Given the description of an element on the screen output the (x, y) to click on. 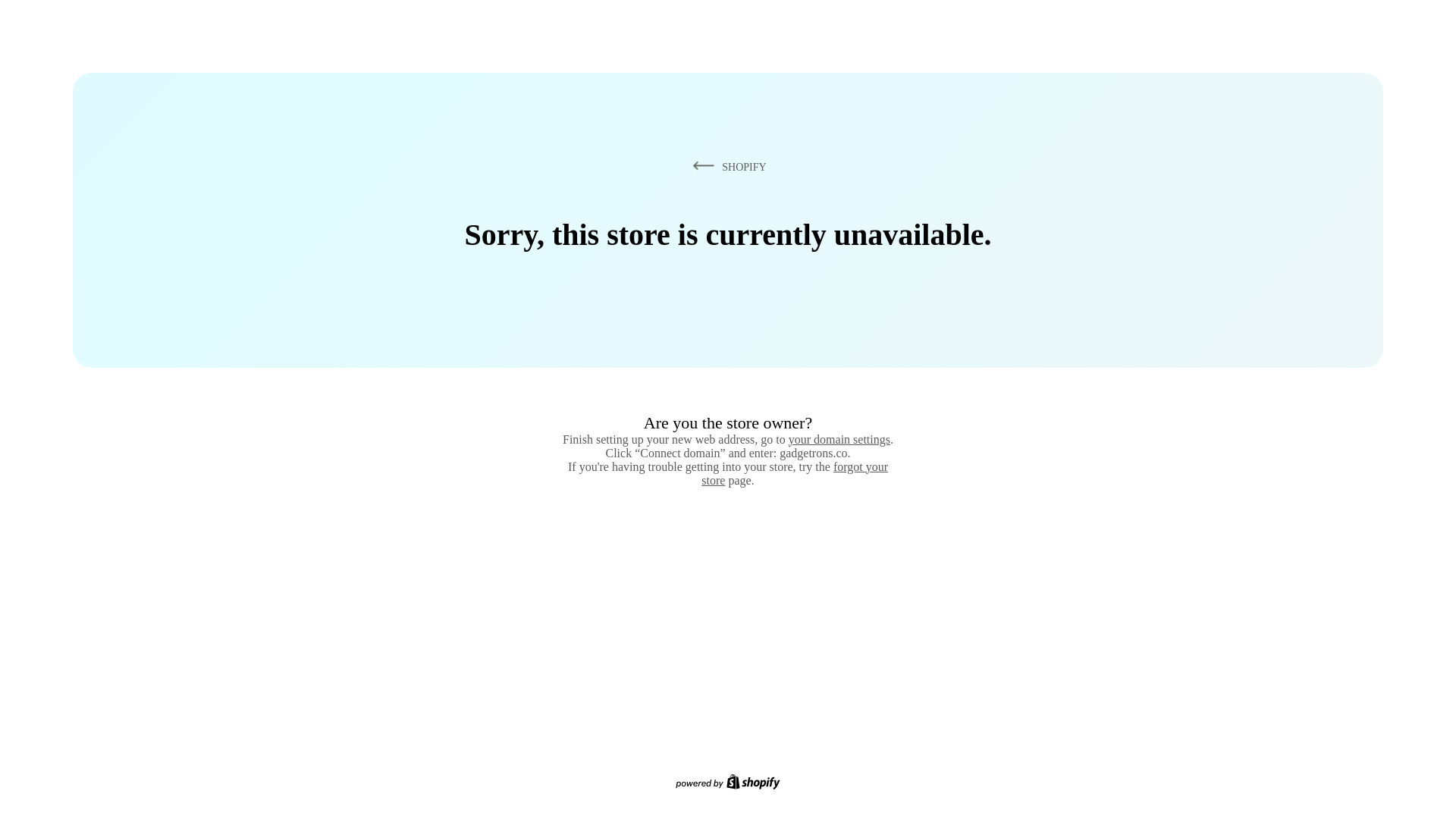
your domain settings (839, 439)
SHOPIFY (726, 166)
forgot your store (794, 473)
